Given the description of an element on the screen output the (x, y) to click on. 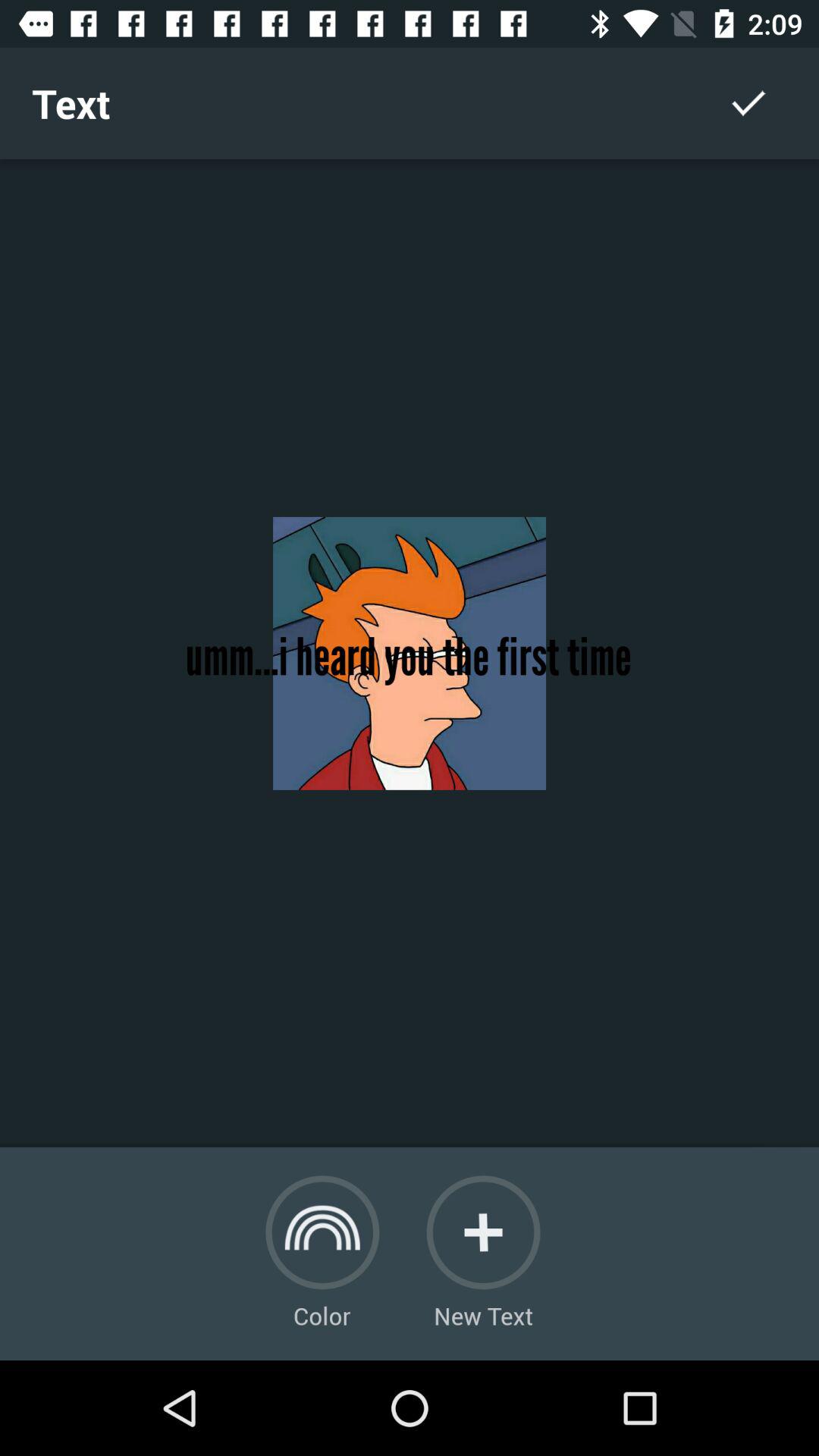
to add more (483, 1232)
